Given the description of an element on the screen output the (x, y) to click on. 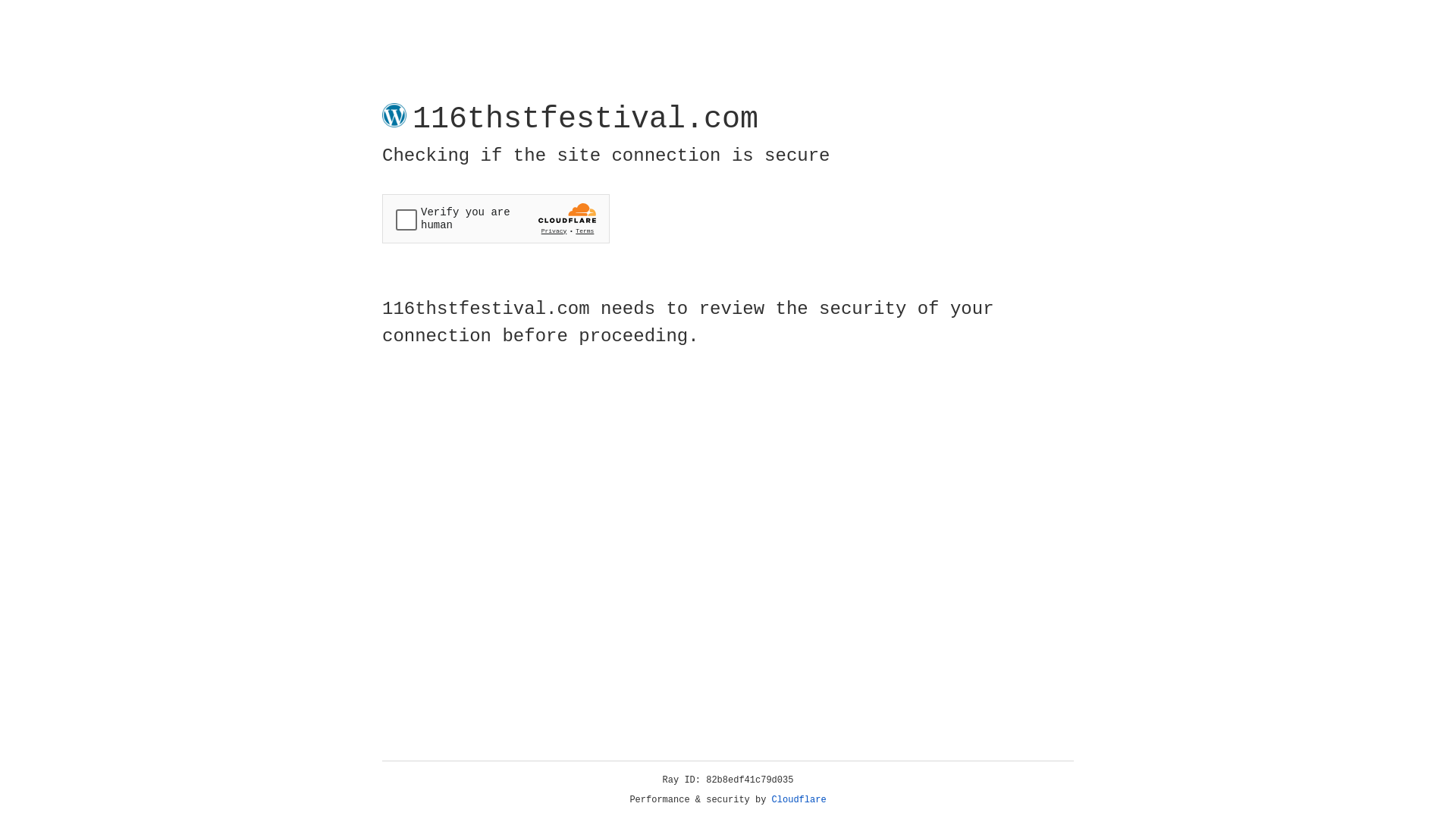
Widget containing a Cloudflare security challenge Element type: hover (495, 218)
Cloudflare Element type: text (798, 799)
